Given the description of an element on the screen output the (x, y) to click on. 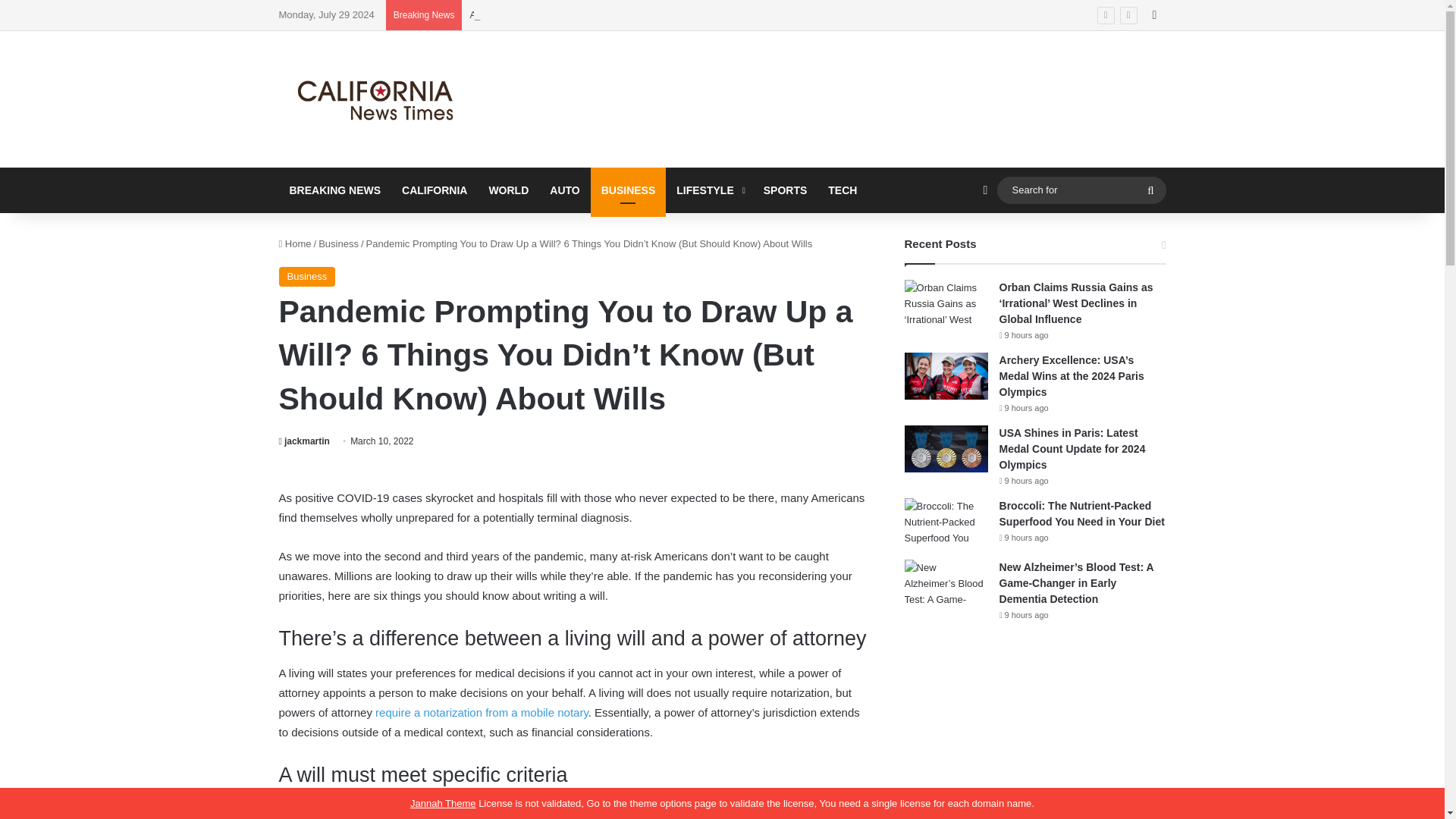
BUSINESS (628, 189)
TECH (841, 189)
LIFESTYLE (708, 189)
Search for (1080, 189)
Californianewstimes.com (377, 99)
Business (307, 276)
Jannah Theme (443, 803)
WORLD (507, 189)
Search for (1150, 189)
AUTO (563, 189)
Home (295, 243)
BREAKING NEWS (335, 189)
Business (338, 243)
jackmartin (304, 440)
require a notarization from a mobile notary (481, 712)
